Given the description of an element on the screen output the (x, y) to click on. 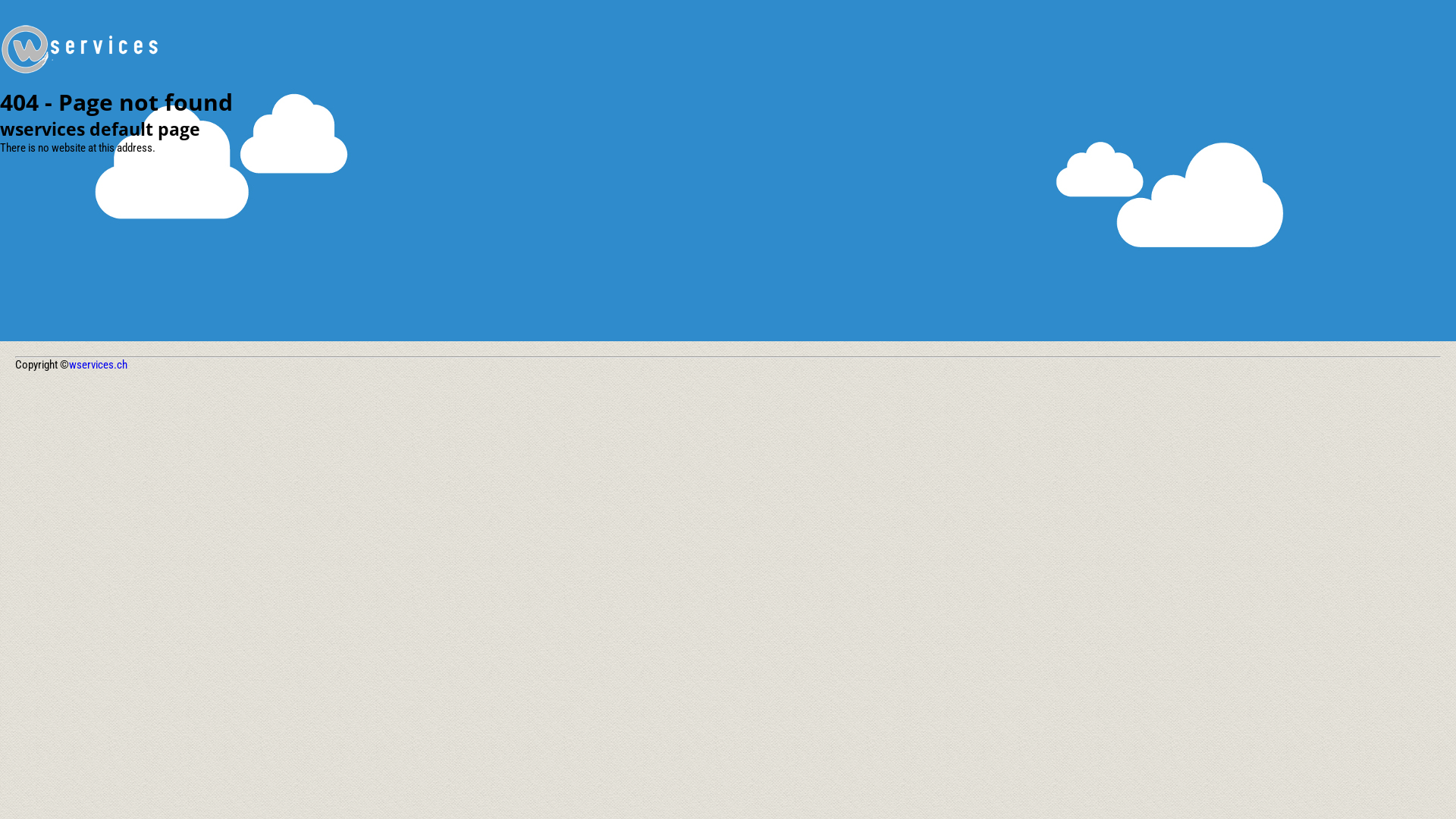
wservices.ch Element type: text (98, 364)
